Given the description of an element on the screen output the (x, y) to click on. 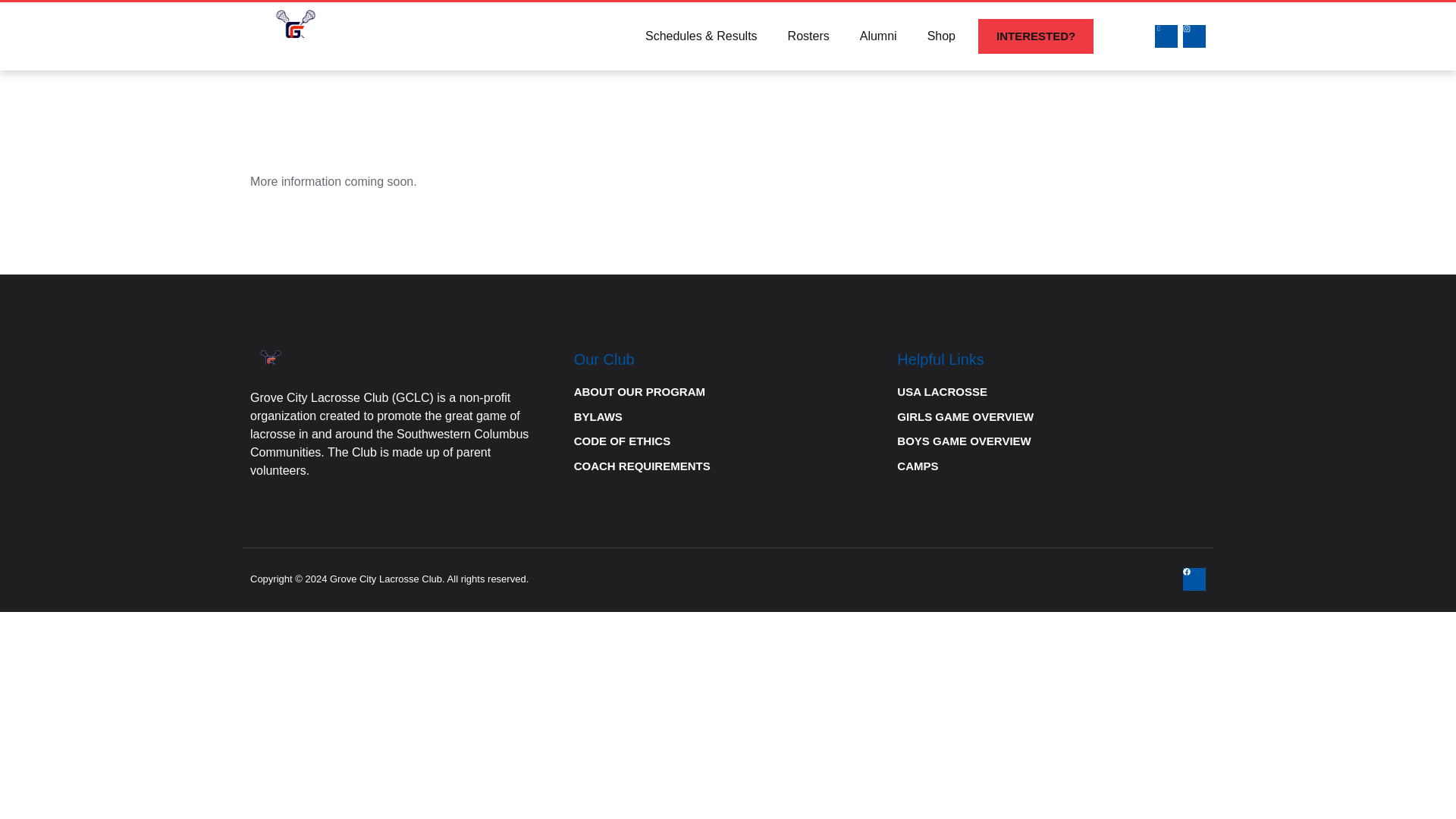
BOYS GAME OVERVIEW (1050, 441)
GIRLS GAME OVERVIEW (1050, 416)
ABOUT OUR PROGRAM (727, 392)
USA LACROSSE (1050, 392)
CAMPS (1050, 466)
CODE OF ETHICS (727, 441)
INTERESTED? (1035, 36)
Shop (941, 36)
Rosters (808, 36)
BYLAWS (727, 416)
